Given the description of an element on the screen output the (x, y) to click on. 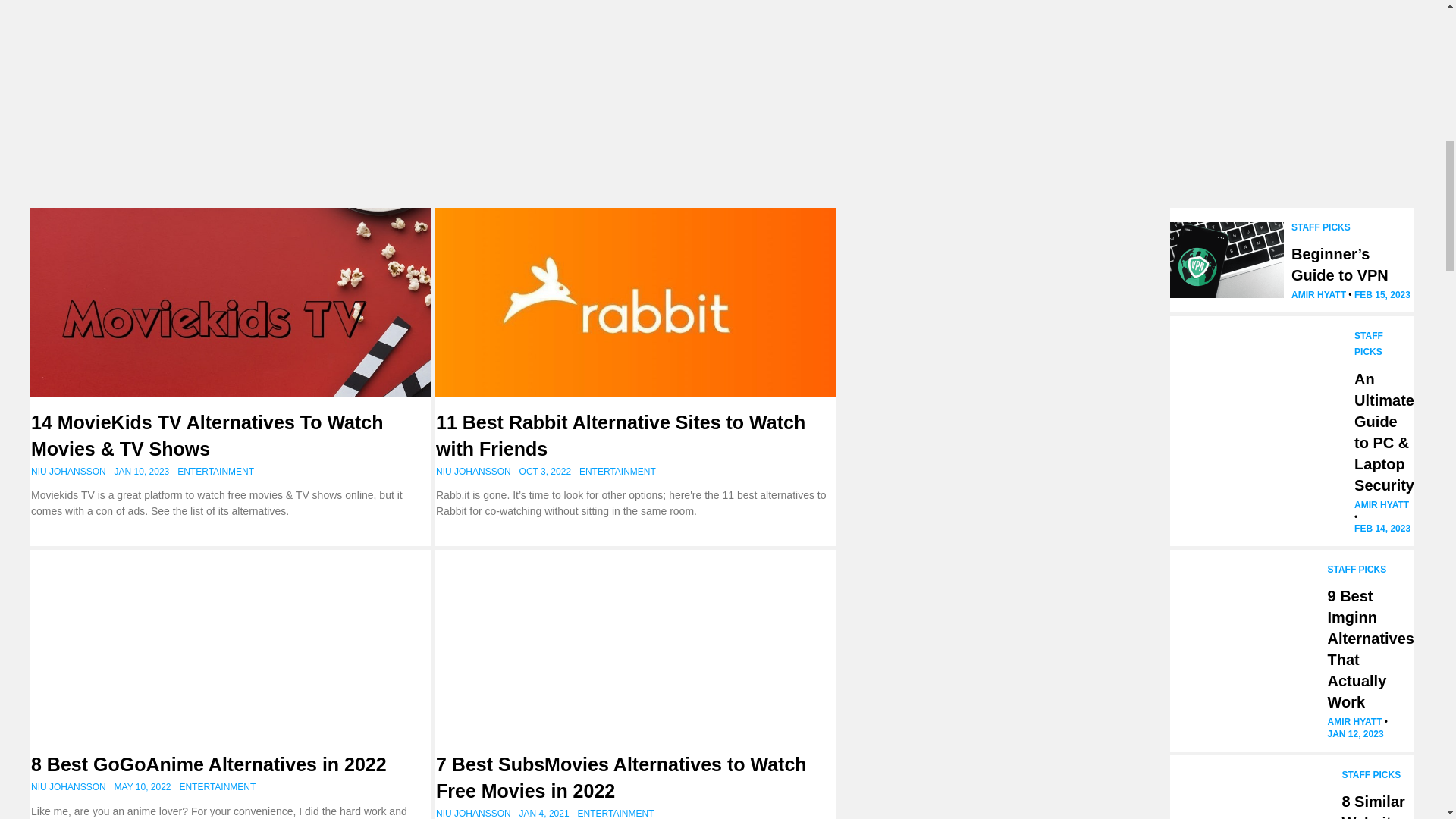
Advertisement (719, 81)
NIU JOHANSSON (68, 471)
11 Best Rabbit Alternative Sites to Watch with Friends (620, 435)
NIU JOHANSSON (473, 471)
Posts by Amir Hyatt (1318, 294)
Posts by Niu Johansson (68, 471)
Posts by Niu Johansson (68, 787)
Posts by Amir Hyatt (1381, 504)
ENTERTAINMENT (215, 471)
Posts by Niu Johansson (473, 471)
